Given the description of an element on the screen output the (x, y) to click on. 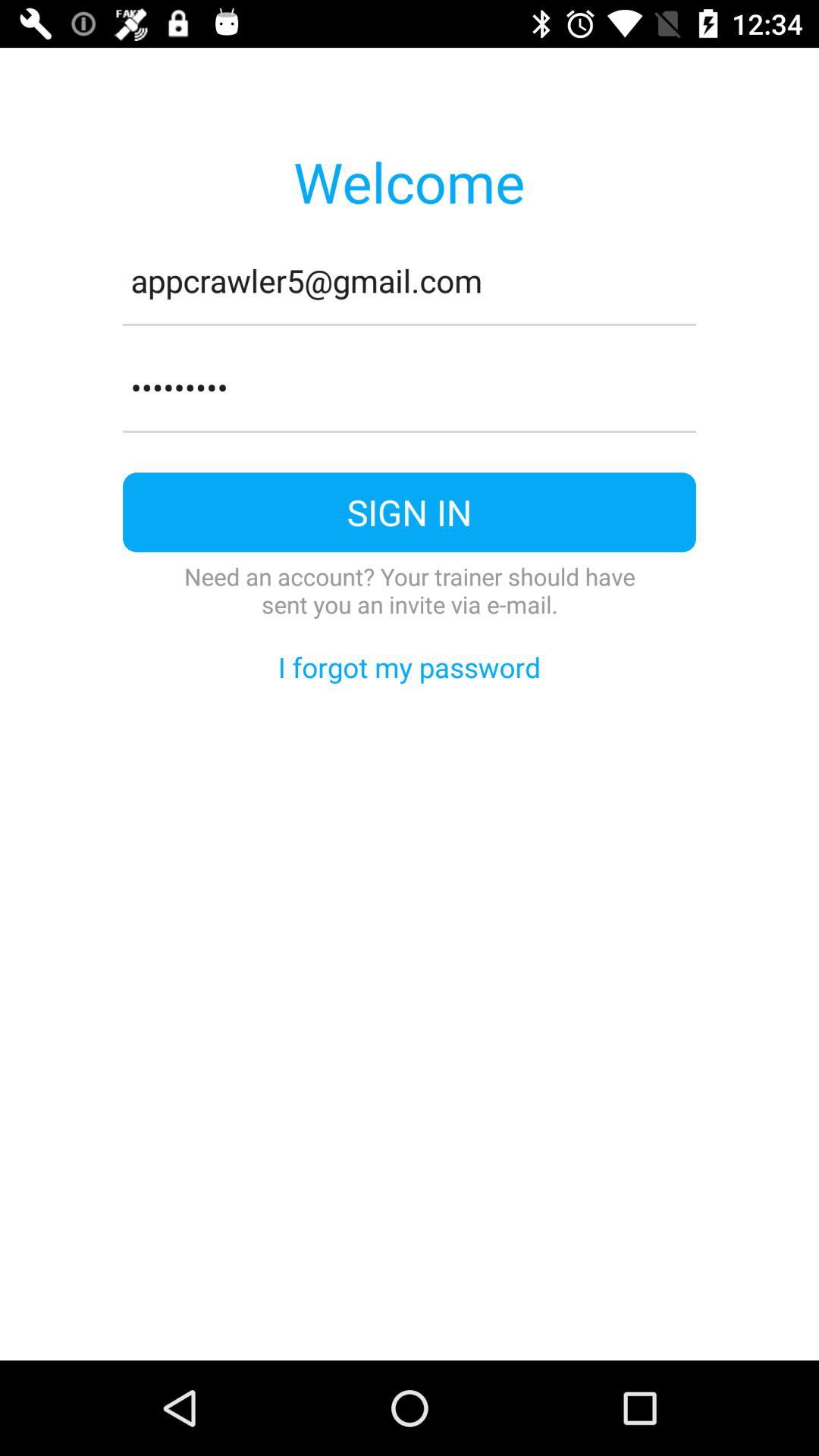
open item above crowd3116 (409, 324)
